Given the description of an element on the screen output the (x, y) to click on. 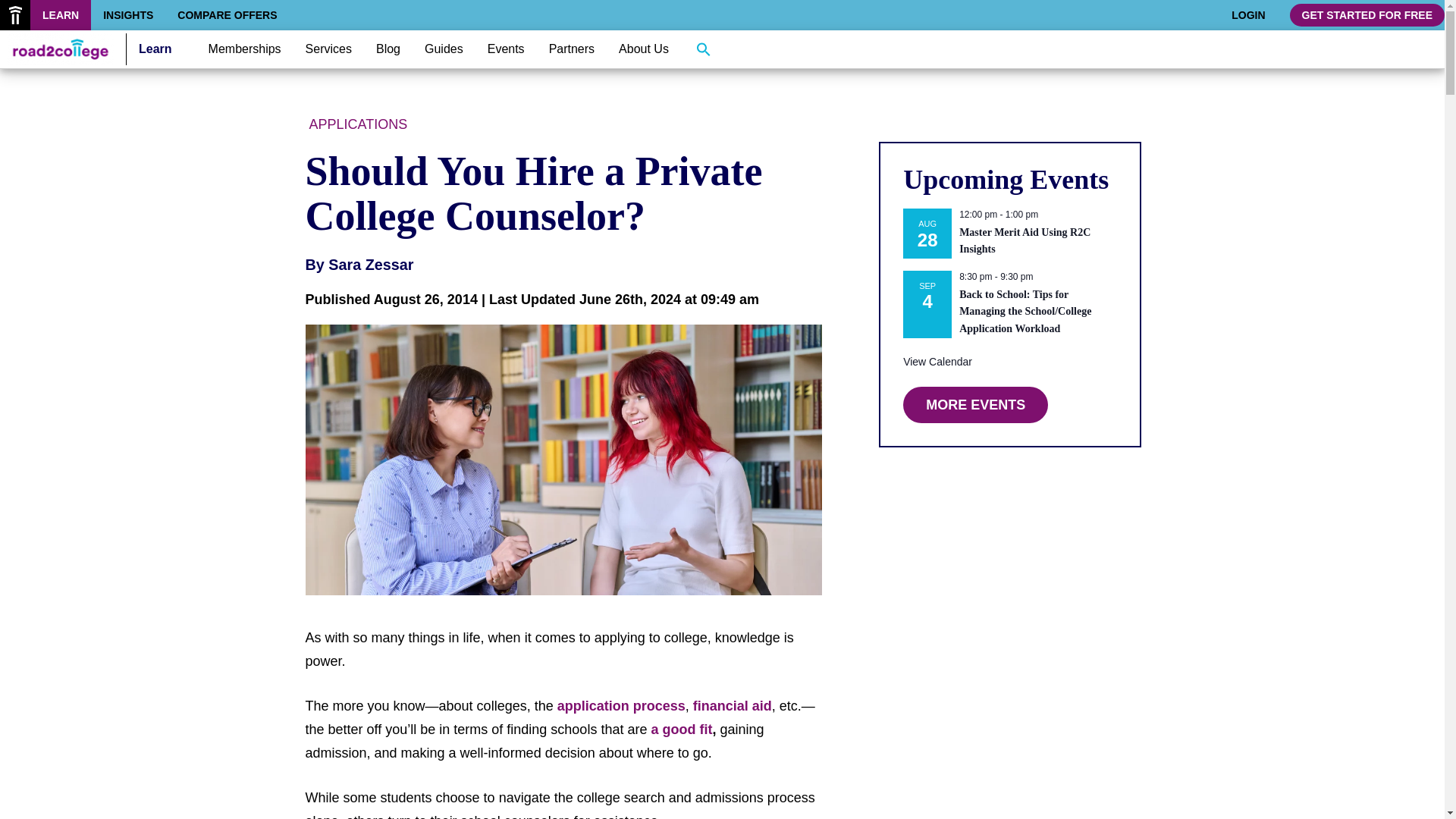
COMPARE OFFERS (226, 15)
LOGIN (1248, 15)
View more events. (937, 361)
Guides (444, 48)
INSIGHTS (127, 15)
LEARN (60, 15)
Memberships (245, 48)
Services (329, 48)
Master Merit Aid Using R2C Insights (1024, 241)
